Given the description of an element on the screen output the (x, y) to click on. 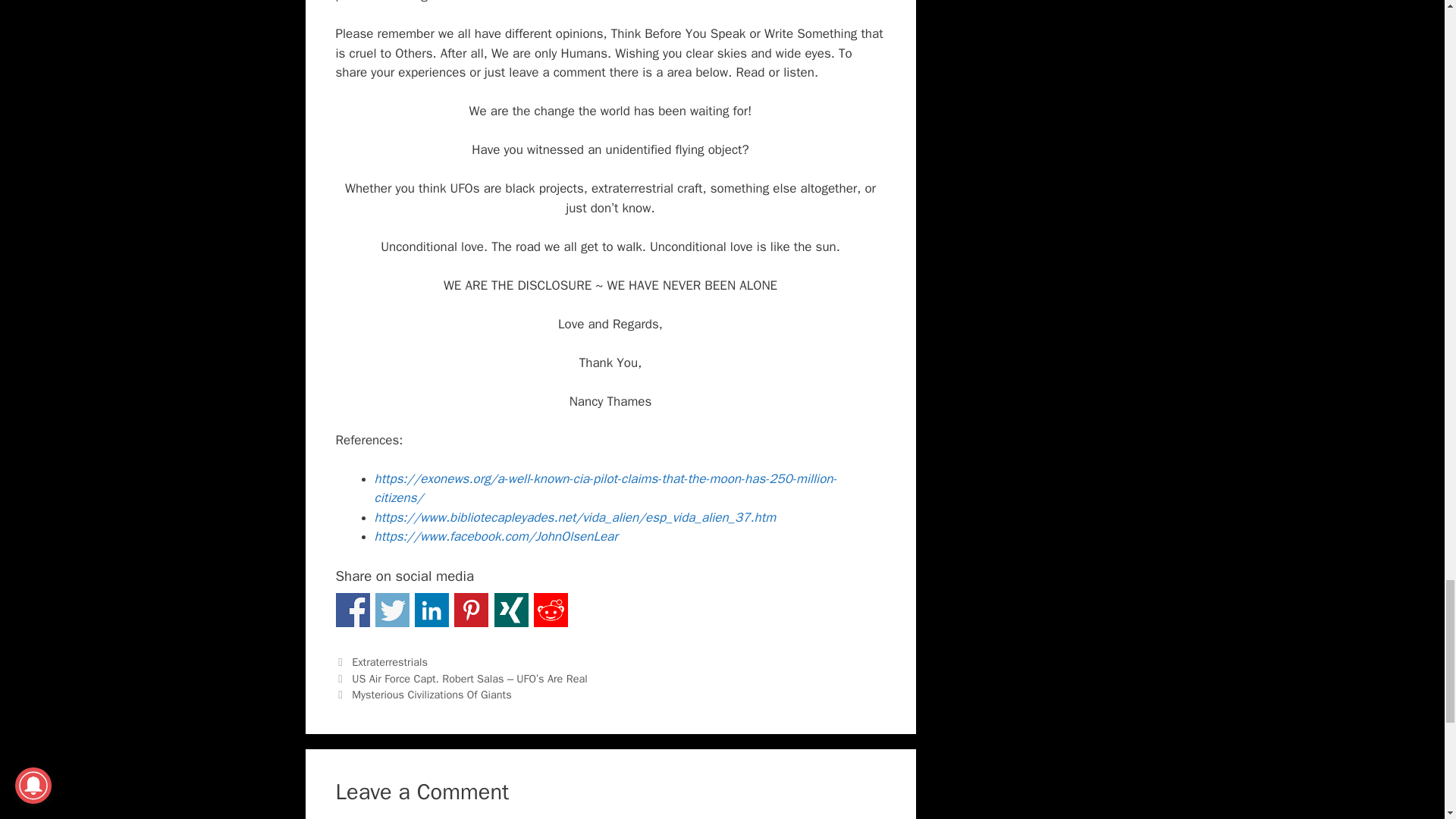
Share on Twitter (392, 609)
Share on Pinterest (470, 609)
Share on Xing (511, 609)
Extraterrestrials (390, 662)
Share on Linkedin (431, 609)
Share on Facebook (351, 609)
Share on Reddit (550, 609)
